Given the description of an element on the screen output the (x, y) to click on. 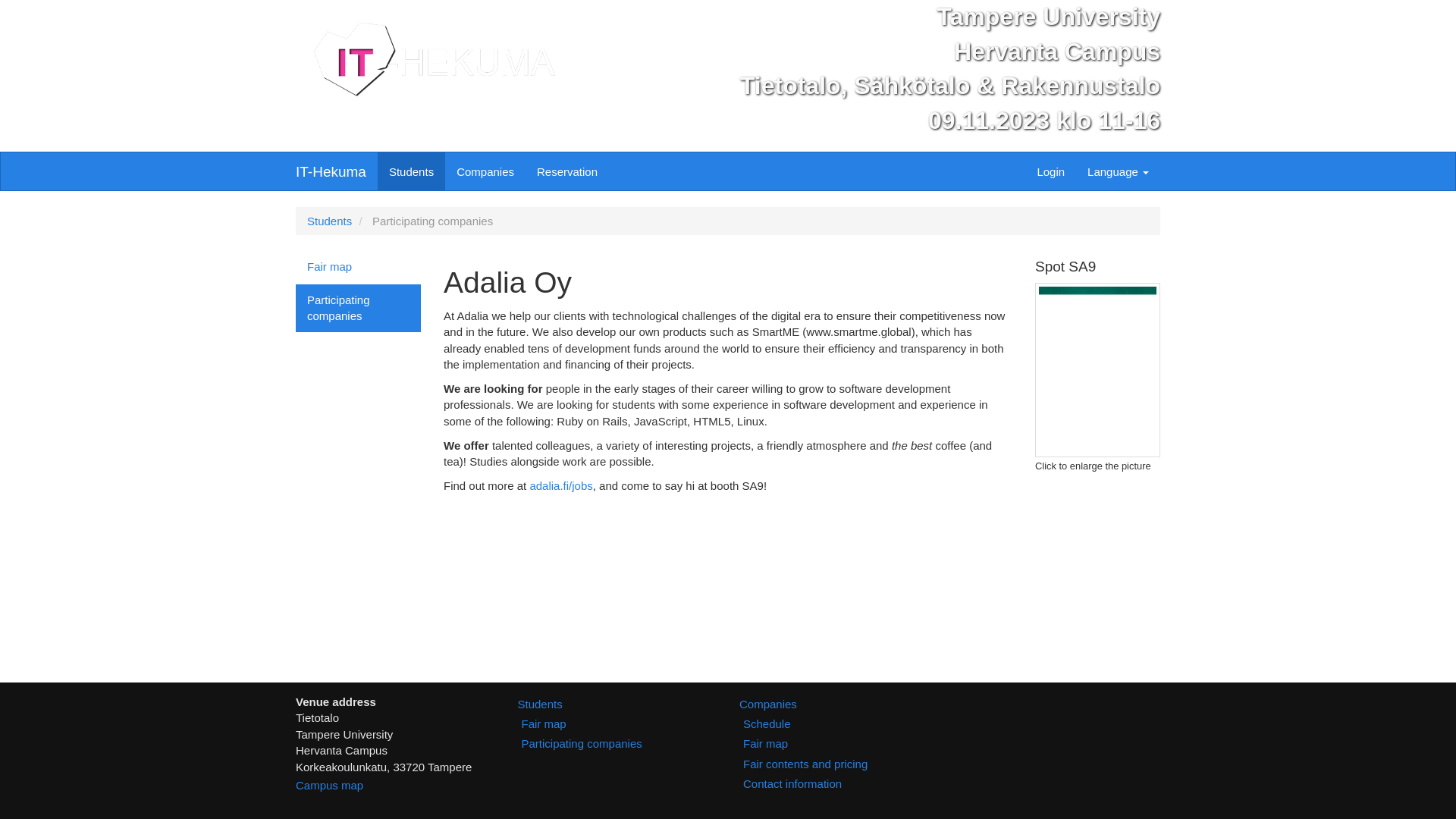
Companies (485, 171)
Participating companies (357, 308)
IT-Hekuma (330, 171)
Reservation (566, 171)
Students (411, 171)
Language  (1117, 171)
Students (329, 220)
Login (1050, 171)
Fair map (357, 265)
